Given the description of an element on the screen output the (x, y) to click on. 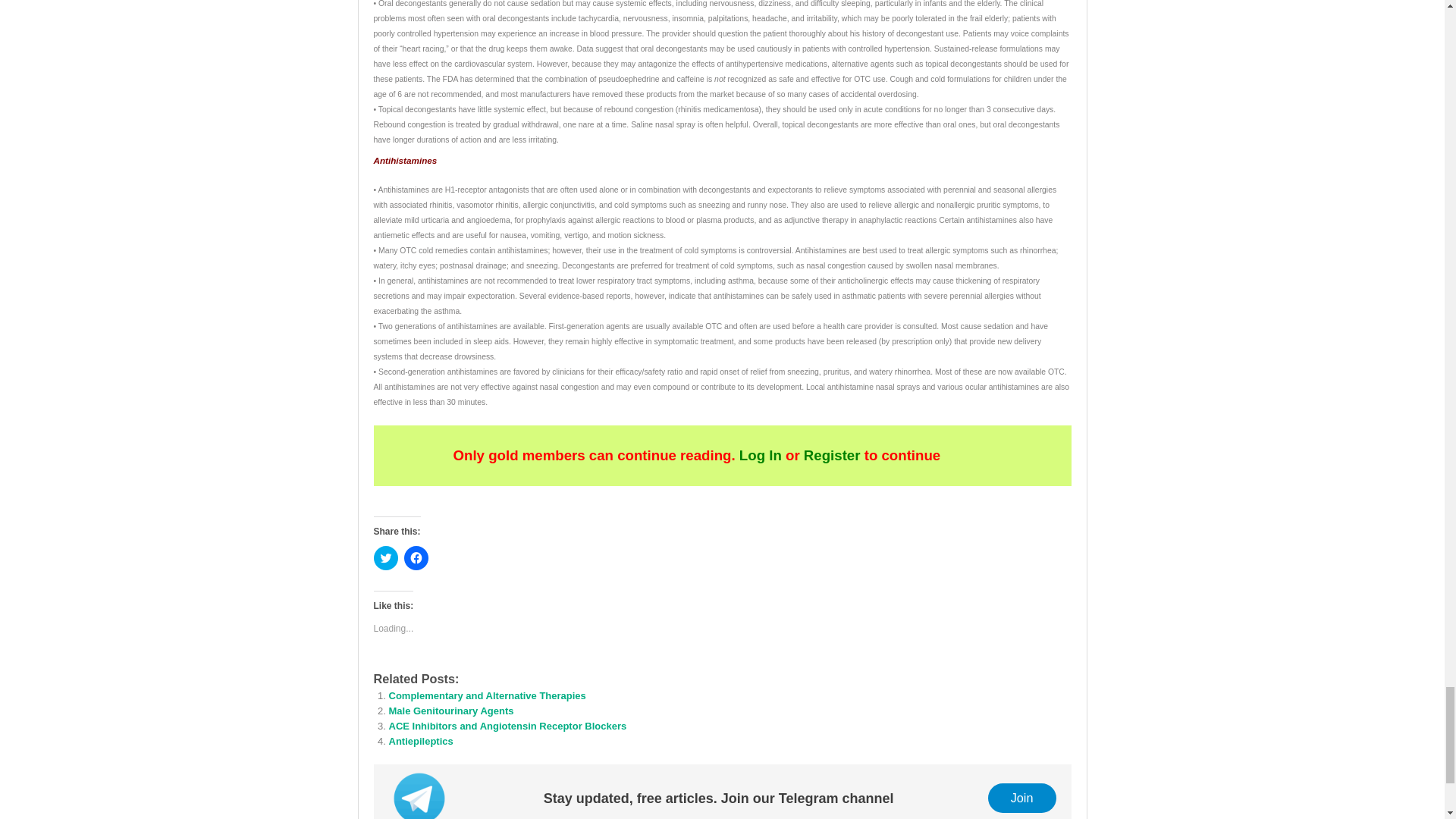
Antiepileptics (420, 740)
ACE Inhibitors and Angiotensin Receptor Blockers (507, 726)
Complementary and Alternative Therapies (486, 695)
Click to share on Facebook (415, 558)
Click to share on Twitter (384, 558)
Male Genitourinary Agents (450, 710)
